Given the description of an element on the screen output the (x, y) to click on. 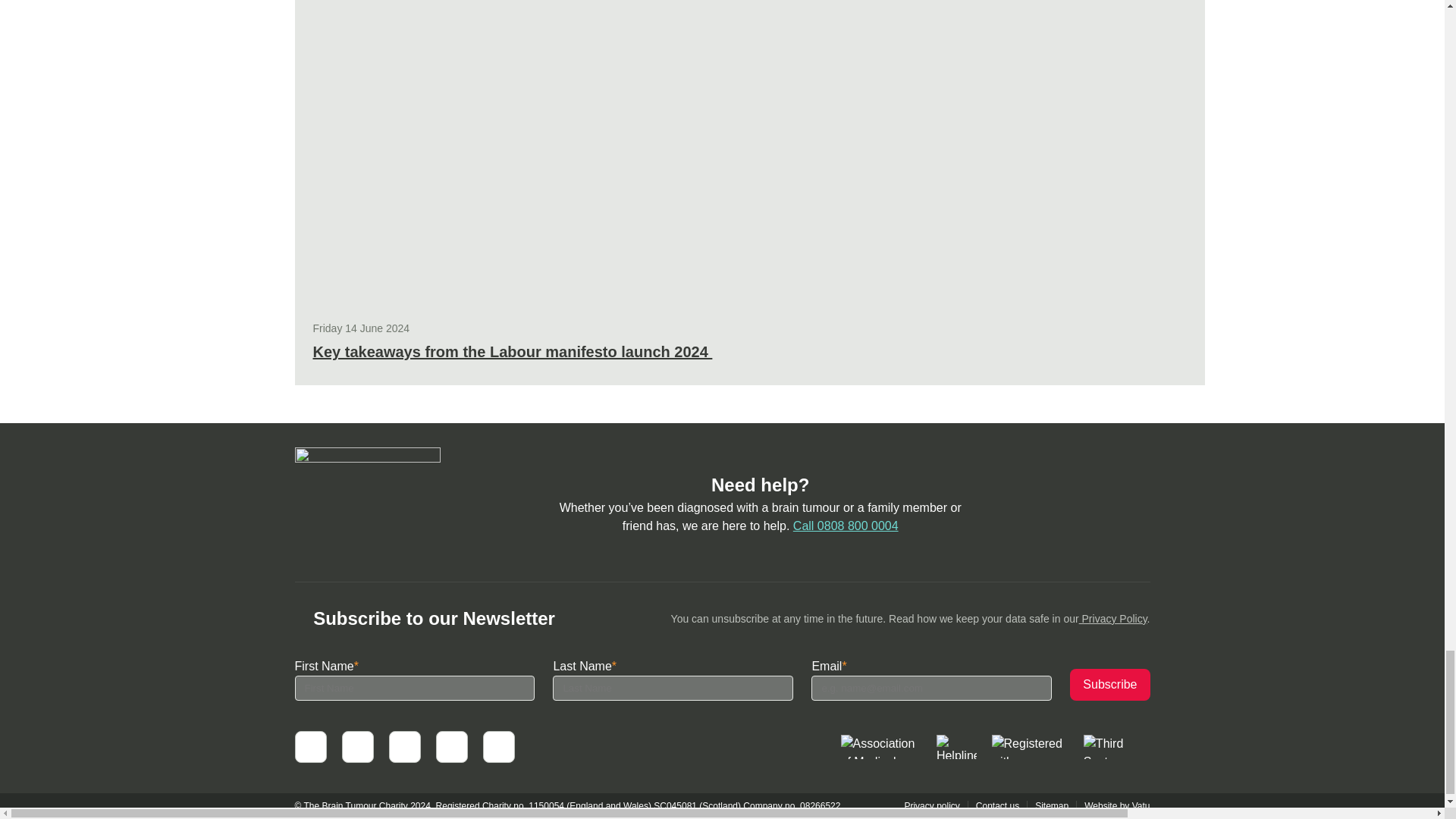
Twitter (356, 746)
YouTube (404, 746)
Instagram (497, 746)
Subscribe (1110, 685)
Tiktok (451, 746)
Facebook (310, 746)
